Given the description of an element on the screen output the (x, y) to click on. 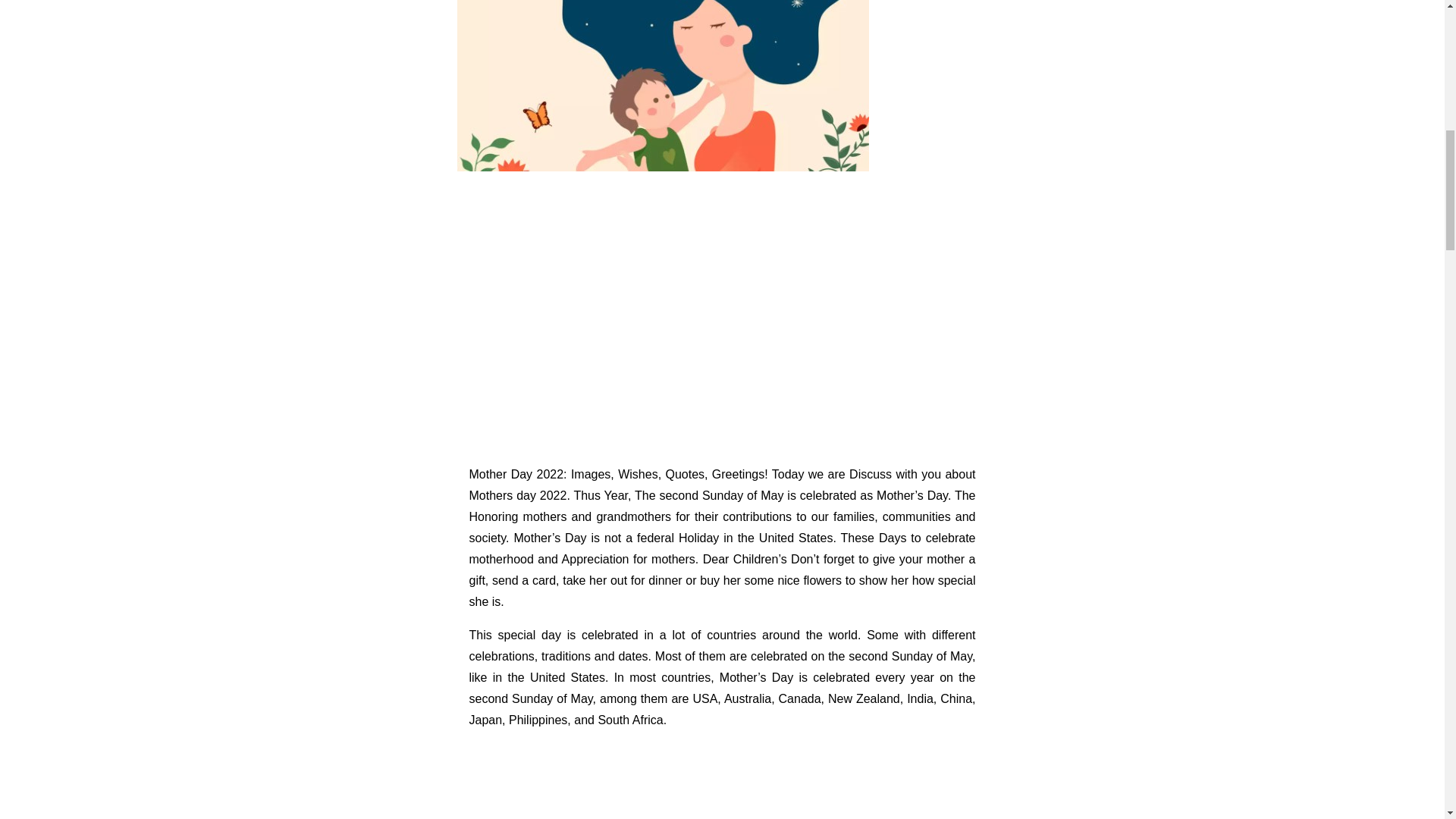
3rd party ad content (721, 780)
3rd party ad content (721, 317)
